Given the description of an element on the screen output the (x, y) to click on. 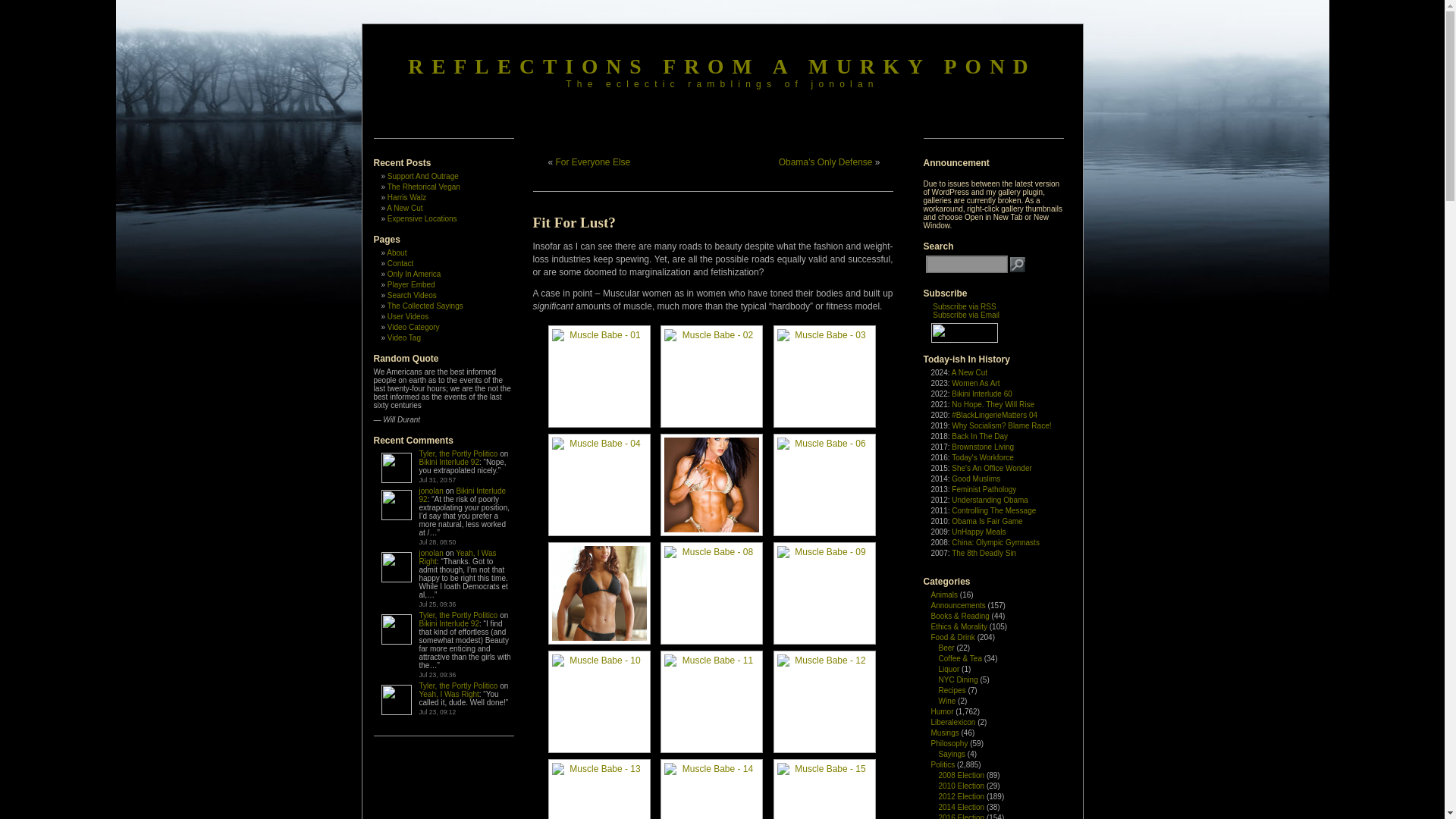
Video Category (413, 326)
Tyler, the Portly Politico (458, 453)
A New Cut (404, 207)
For Everyone Else (593, 162)
Support And Outrage (422, 175)
Harris Walz (406, 197)
Search Videos (411, 295)
The Rhetorical Vegan (423, 186)
Bikini Interlude 92 (449, 623)
The Collected Sayings (425, 306)
